Given the description of an element on the screen output the (x, y) to click on. 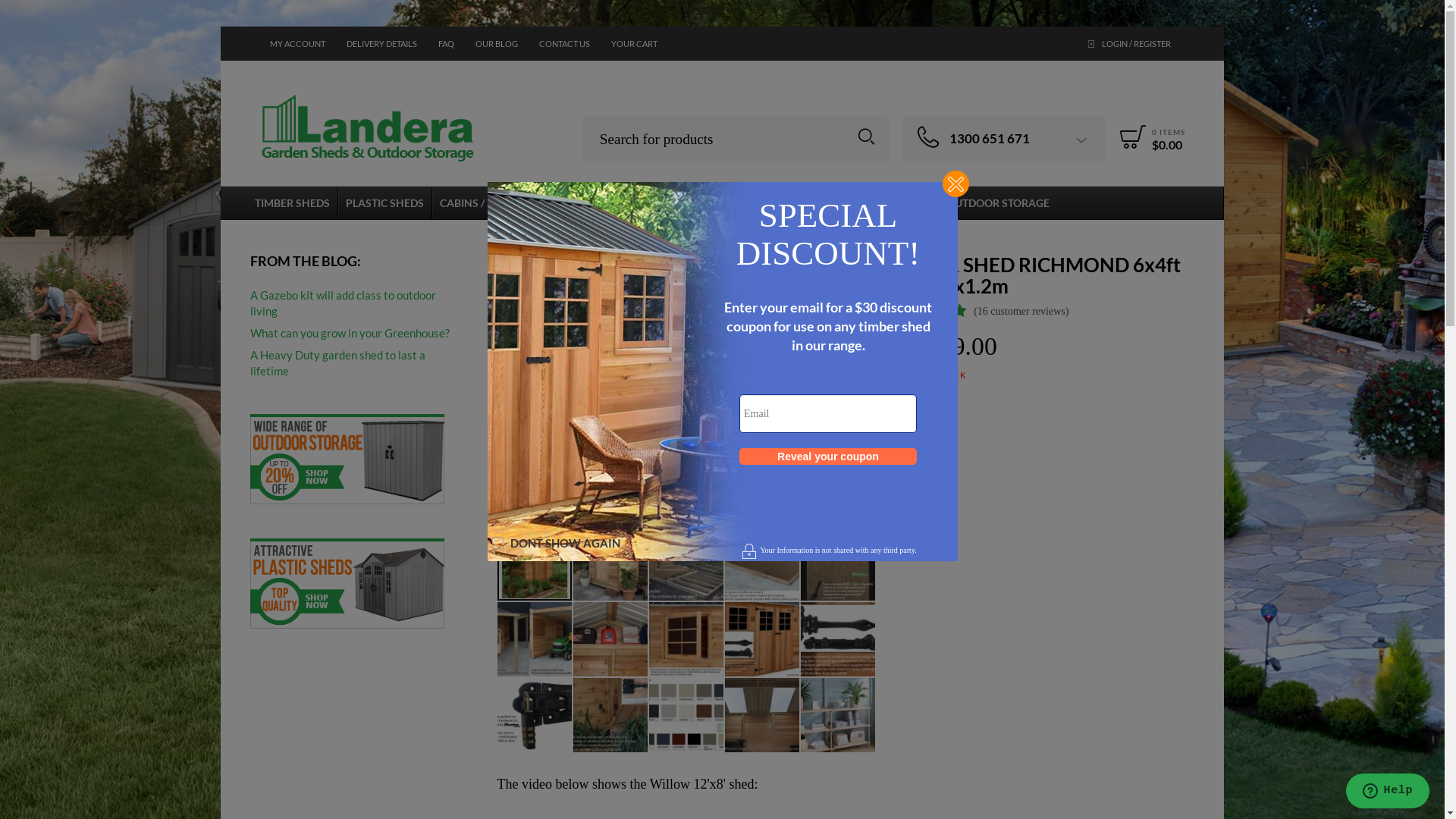
DELIVERY DETAILS Element type: text (381, 43)
MY ACCOUNT Element type: text (297, 43)
CABINS / STUDIOS Element type: text (485, 203)
INDOOR STORAGE Element type: text (883, 203)
YOUR CART Element type: text (634, 43)
GREENHOUSES Element type: text (776, 203)
0 ITEMS
$0.00 Element type: text (1149, 136)
GARDEN SHEDS & STRUCTURES Element type: text (631, 203)
FAQ Element type: text (445, 43)
What can you grow in your Greenhouse? Element type: text (349, 333)
OUTDOOR STORAGE Element type: text (997, 203)
(16 customer reviews) Element type: text (1020, 310)
Reveal your coupon Element type: text (827, 456)
TIMBER SHEDS Element type: text (292, 203)
CONTACT US Element type: text (564, 43)
LOGIN / REGISTER Element type: text (1130, 43)
PLASTIC SHEDS Element type: text (384, 203)
FACEBOOK Element type: text (291, 77)
A Gazebo kit will add class to outdoor living Element type: text (357, 303)
A Heavy Duty garden shed to last a lifetime Element type: text (357, 363)
Opens a widget where you can chat to one of our agents Element type: hover (1387, 792)
OUR BLOG Element type: text (496, 43)
Search Element type: text (866, 136)
